Given the description of an element on the screen output the (x, y) to click on. 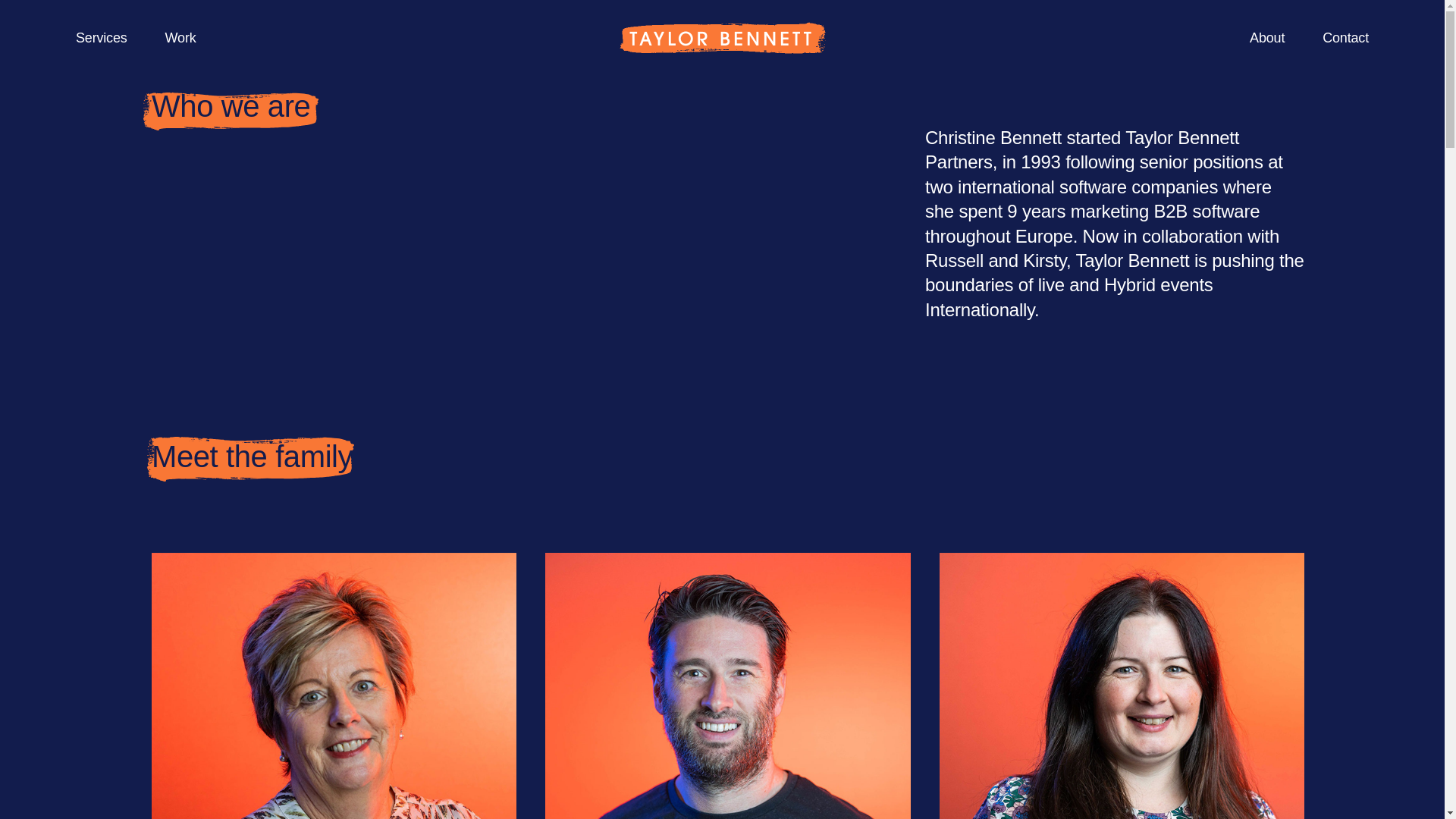
Contact (1345, 38)
Services (101, 38)
About (1266, 38)
Work (180, 38)
